Given the description of an element on the screen output the (x, y) to click on. 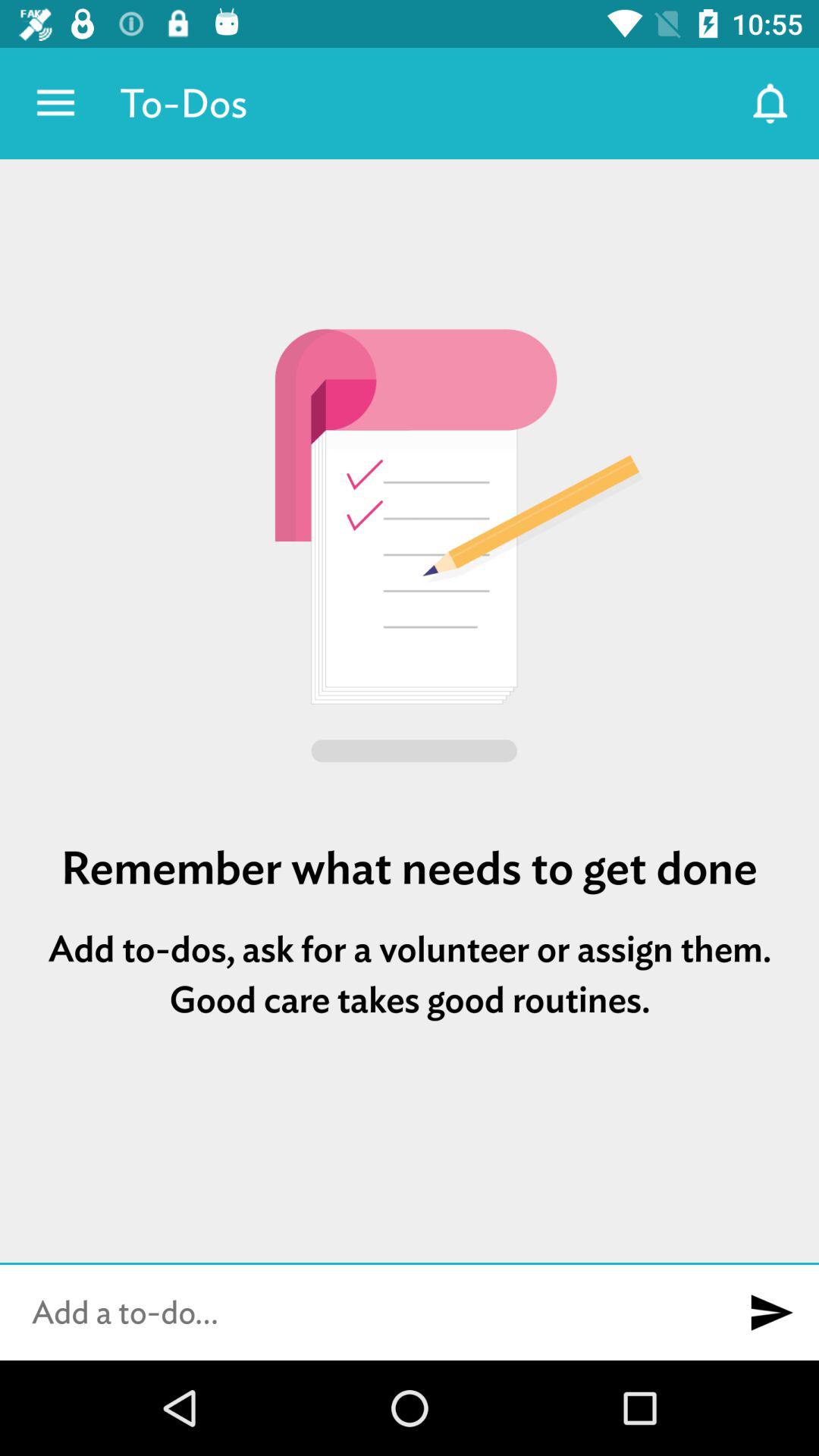
turn on the app next to the to-dos (771, 103)
